Given the description of an element on the screen output the (x, y) to click on. 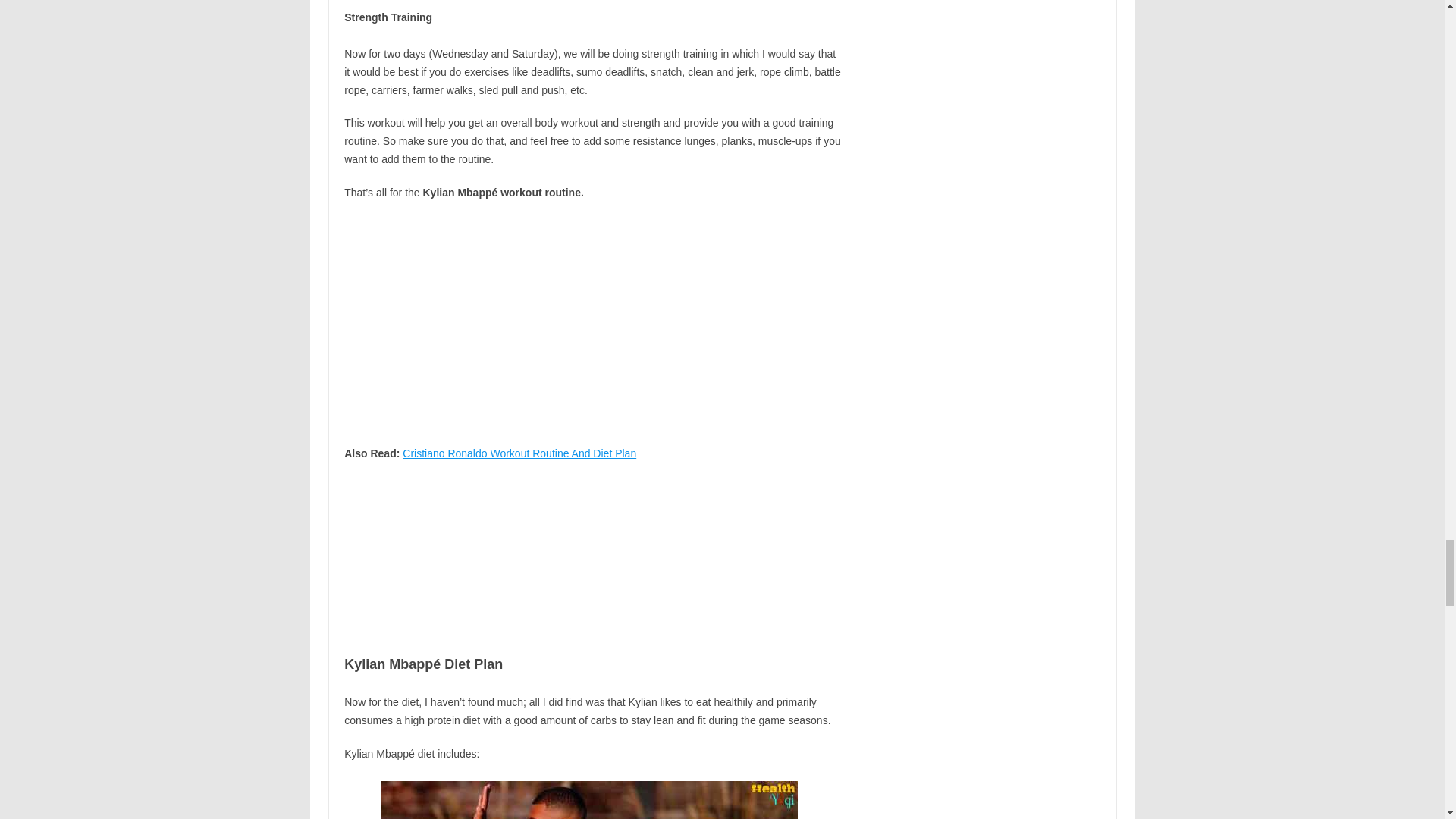
Cristiano Ronaldo Workout Routine And Diet Plan (519, 453)
